Given the description of an element on the screen output the (x, y) to click on. 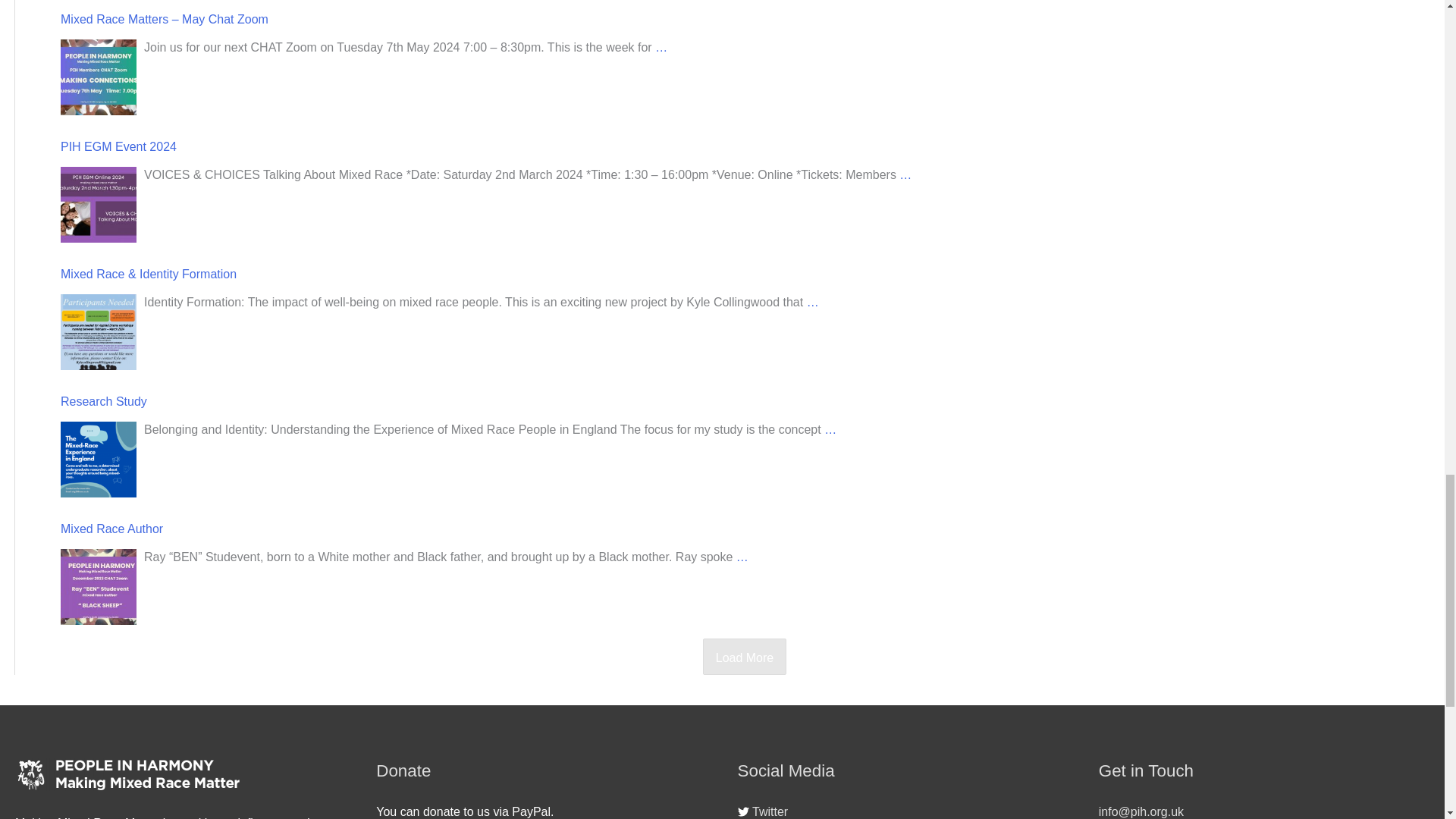
Continue reading PIH EGM Event 2024 (905, 174)
Mixed Race Author (98, 586)
PIH EGM Event 2024 (98, 204)
Continue reading Research Study (829, 429)
Continue reading Mixed Race Author (742, 557)
Research Study (98, 459)
